Given the description of an element on the screen output the (x, y) to click on. 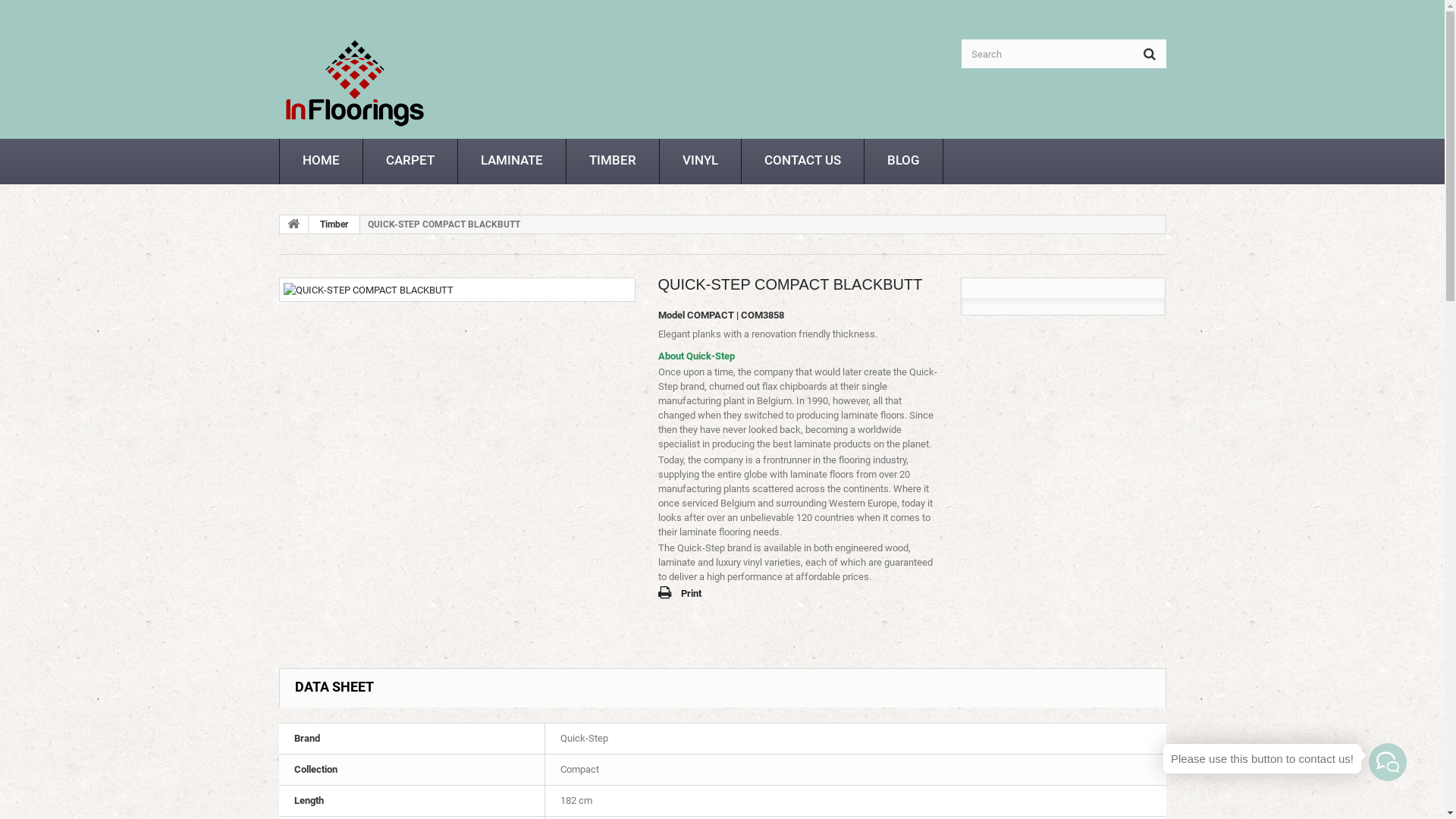
VINYL Element type: text (699, 161)
Timber Element type: text (333, 224)
CONTACT US Element type: text (802, 161)
HOME Element type: text (320, 161)
BLOG Element type: text (903, 161)
Return to Home Element type: hover (293, 224)
LAMINATE Element type: text (511, 161)
CARPET Element type: text (409, 161)
TIMBER Element type: text (611, 161)
In Floorings Element type: hover (354, 81)
QUICK-STEP COMPACT BLACKBUTT Element type: hover (368, 289)
QUICK-STEP COMPACT BLACKBUTT Element type: hover (368, 288)
Print Element type: text (679, 593)
